Given the description of an element on the screen output the (x, y) to click on. 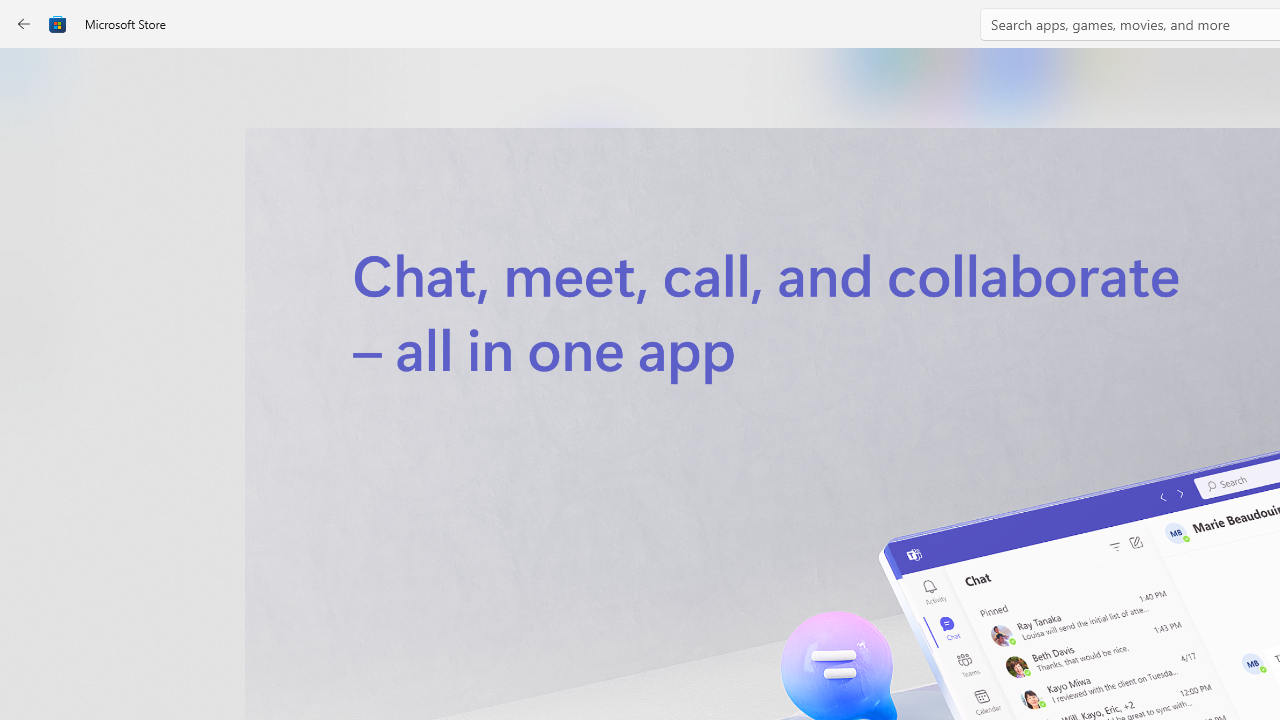
Apps (35, 141)
Arcade (35, 265)
Home (35, 79)
AI Hub (35, 390)
Install (586, 428)
Microsoft Corporation (673, 333)
Sign in to review (882, 667)
Show more (854, 428)
Gaming (35, 203)
Back (24, 24)
2.6 stars. Click to skip to ratings and reviews (542, 543)
Entertainment (35, 327)
Class: Image (58, 24)
